Given the description of an element on the screen output the (x, y) to click on. 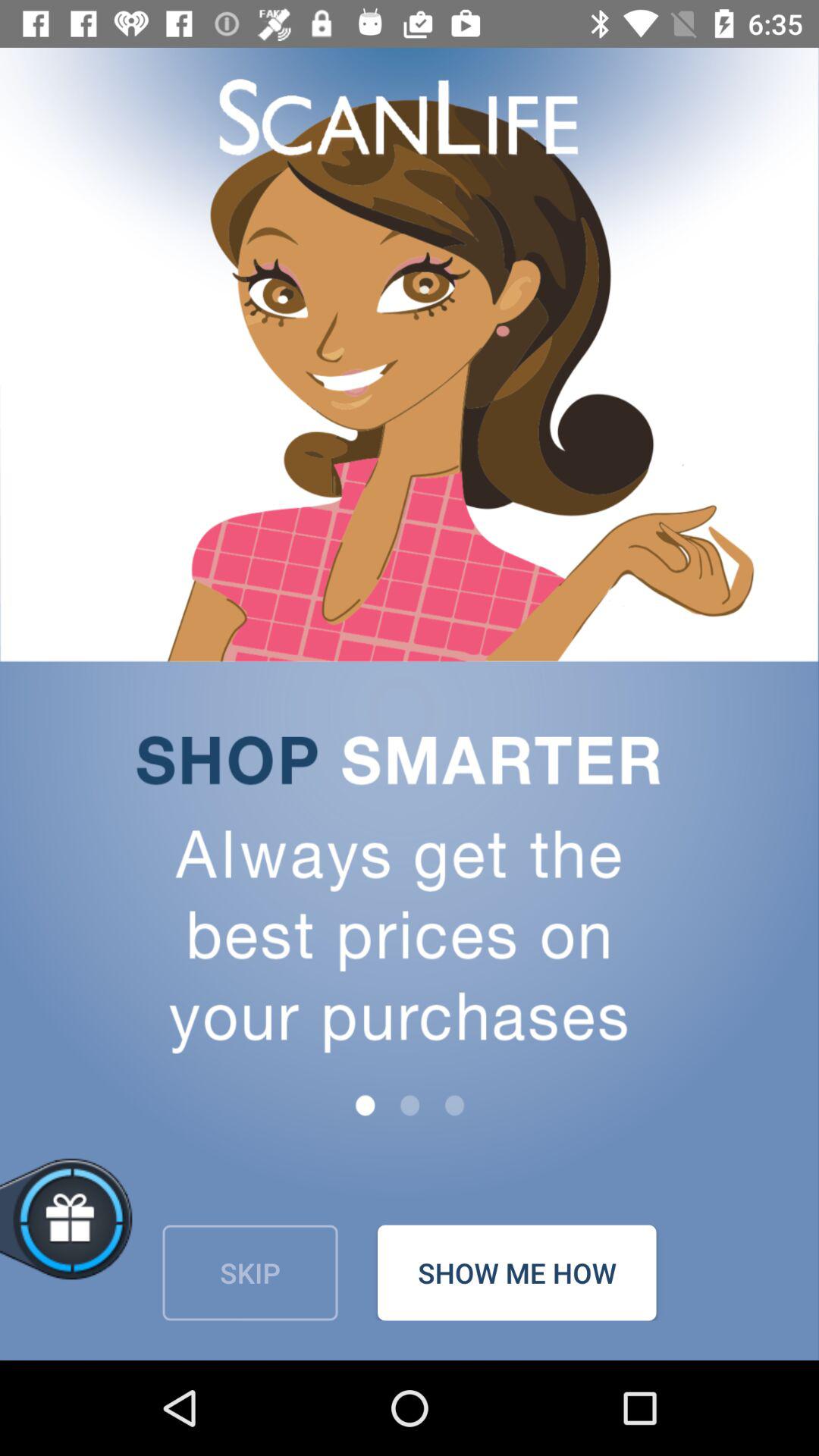
abrir vale presente (119, 1236)
